Given the description of an element on the screen output the (x, y) to click on. 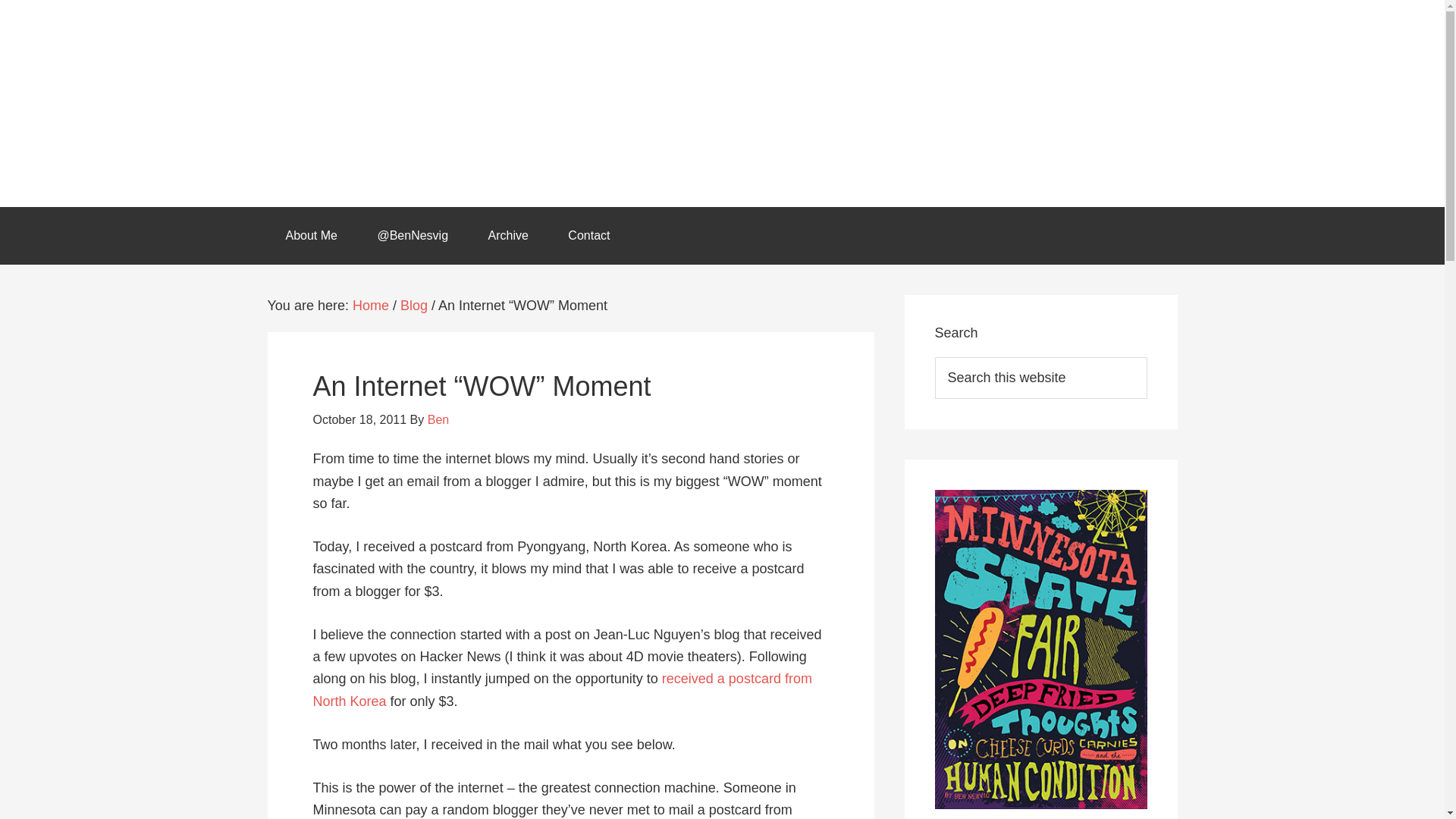
Contact (588, 235)
Archive (508, 235)
About Me (310, 235)
Ben (438, 419)
Home (370, 305)
received a postcard from North Korea (561, 689)
Blog (414, 305)
Ben Nesvig (721, 102)
